Given the description of an element on the screen output the (x, y) to click on. 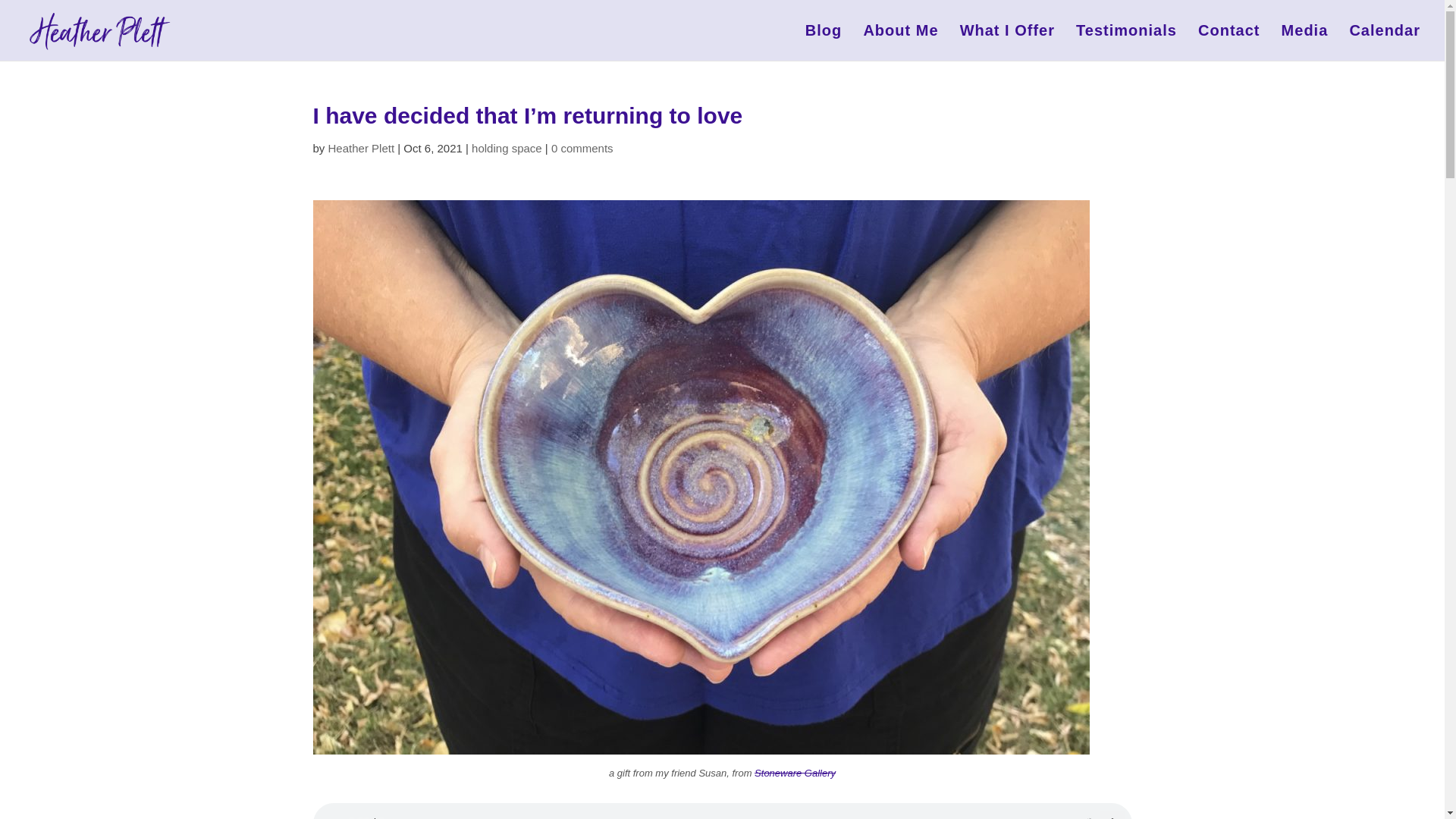
What I Offer (1006, 42)
Testimonials (1125, 42)
Stoneware Gallery (794, 772)
About Me (900, 42)
Calendar (1385, 42)
holding space (506, 147)
Media (1304, 42)
0 comments (581, 147)
Posts by Heather Plett (361, 147)
Blog (823, 42)
Contact (1228, 42)
Heather Plett (361, 147)
